Given the description of an element on the screen output the (x, y) to click on. 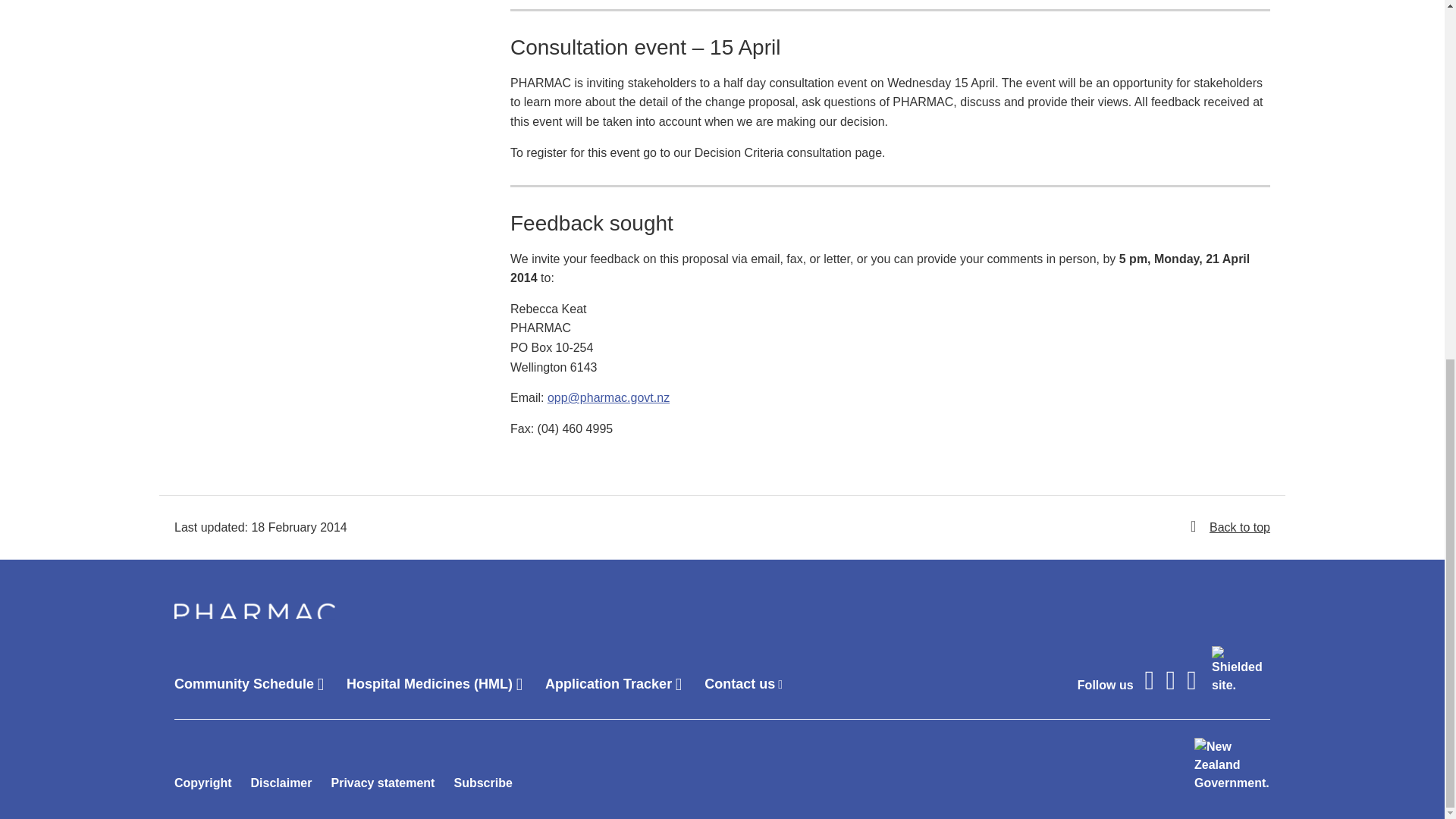
Visit our Facebook page.  (1149, 680)
Visit our LinkedIn page.  (1170, 680)
Visit our Twiiter page.  (1191, 680)
Open the New Zealand Government in a new window.  (1231, 764)
